Given the description of an element on the screen output the (x, y) to click on. 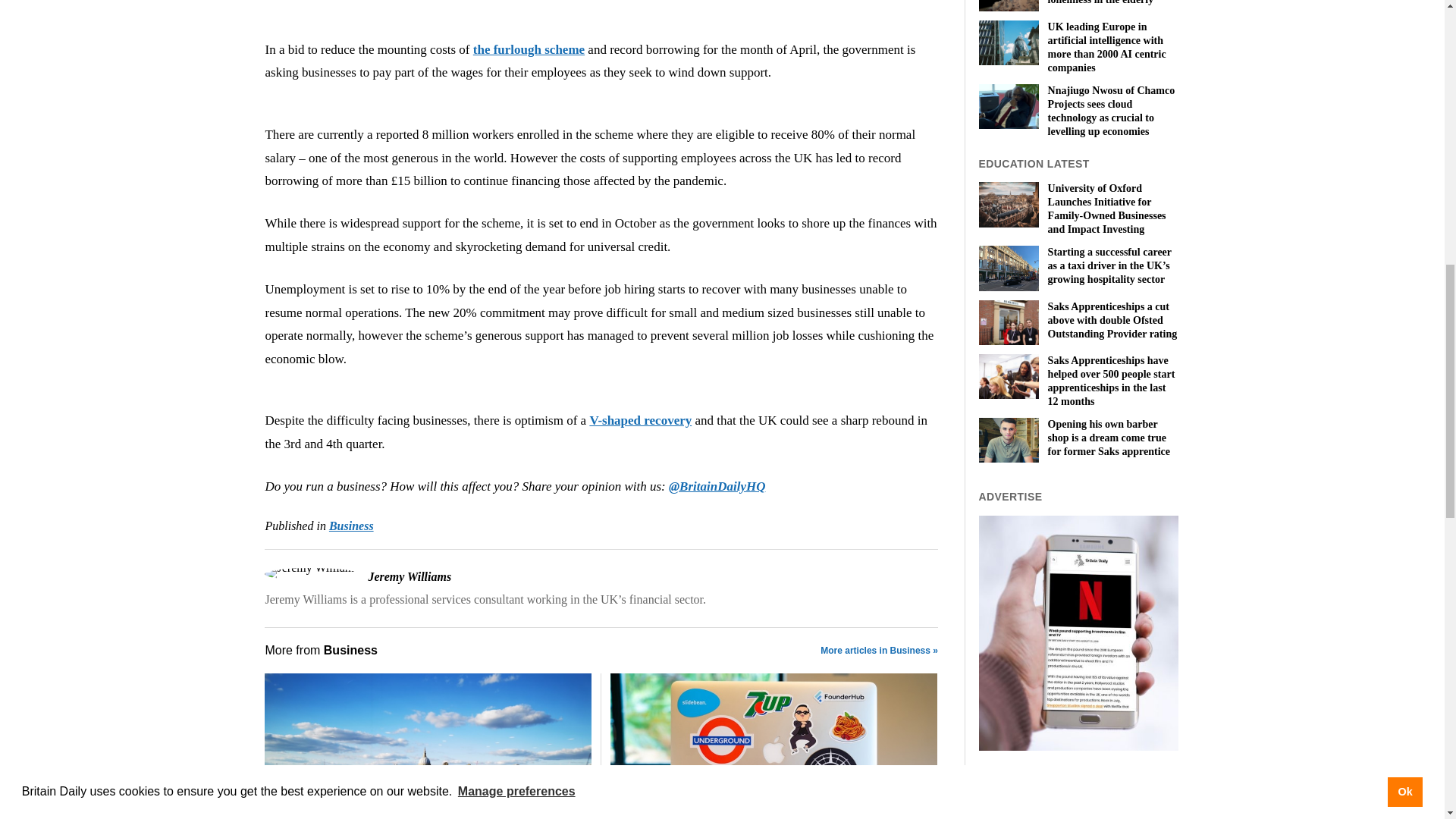
the furlough scheme (529, 49)
Business (351, 525)
V-shaped recovery (640, 420)
View all posts in Business (351, 525)
